Given the description of an element on the screen output the (x, y) to click on. 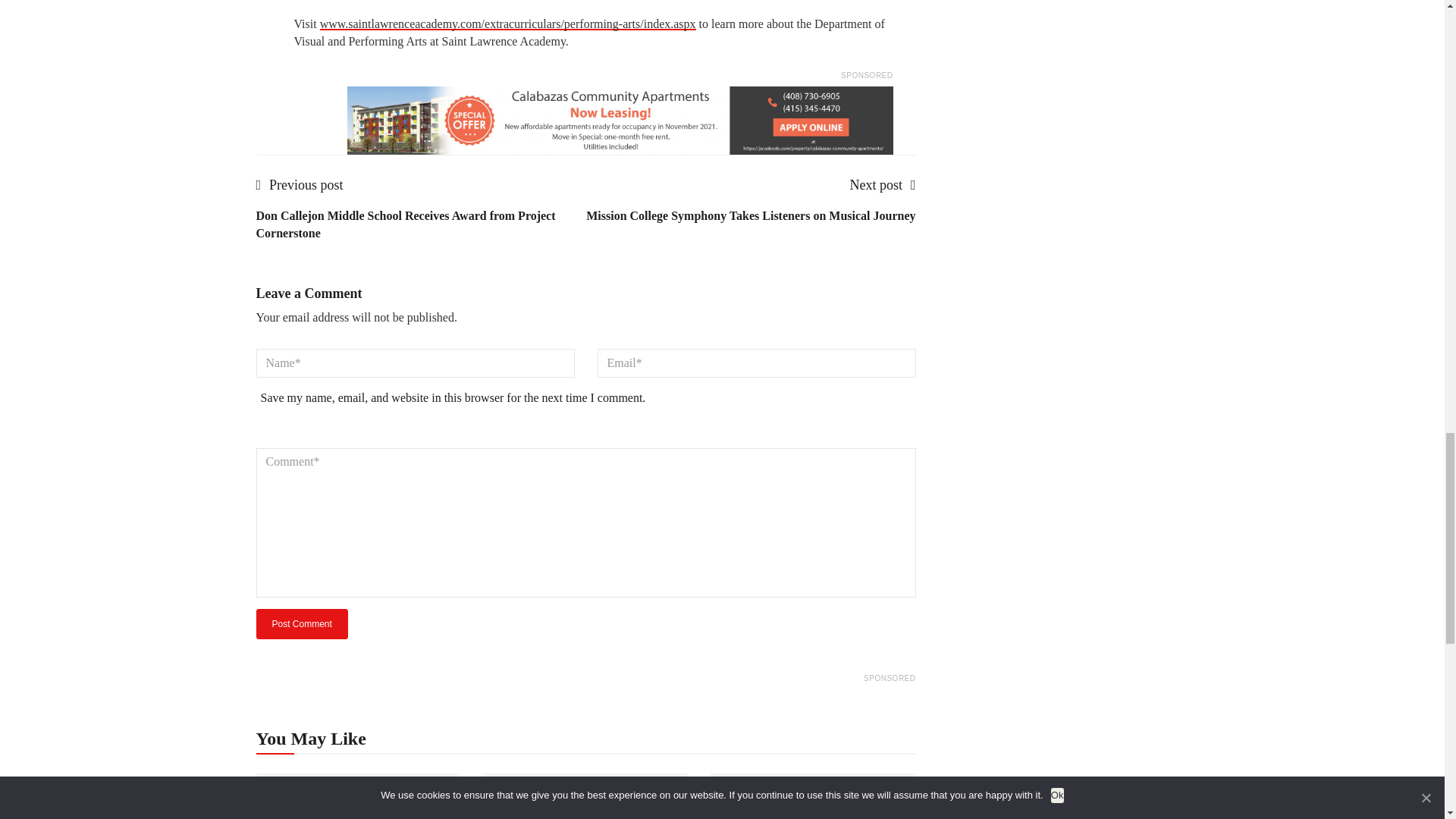
Post Comment (301, 624)
